Given the description of an element on the screen output the (x, y) to click on. 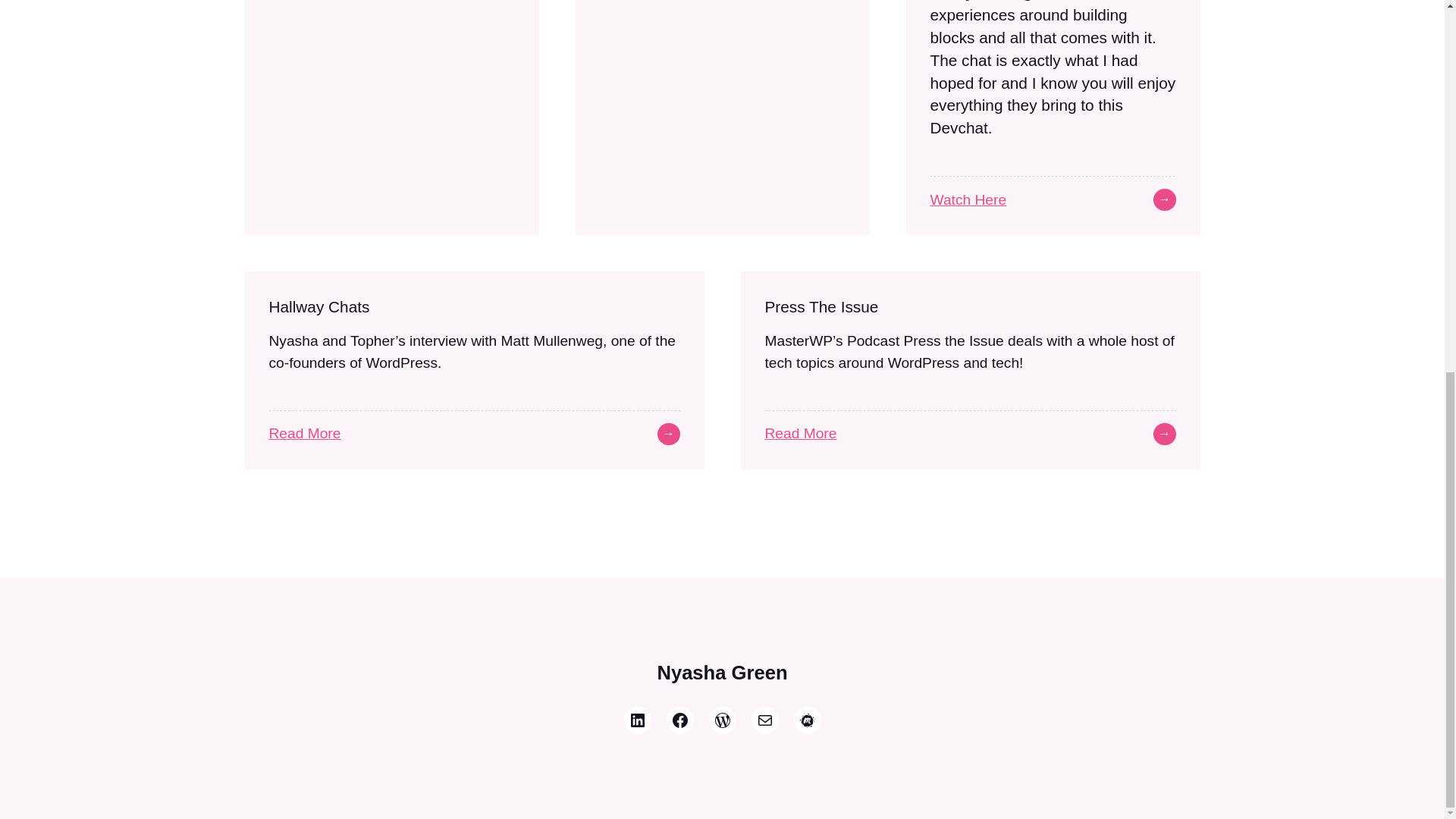
Facebook (679, 719)
Mail (764, 719)
Nyasha Green (721, 672)
Read More (303, 433)
LinkedIn (636, 719)
Read More (799, 433)
Meetup (807, 719)
WordPress (721, 719)
Watch Here (968, 199)
